Given the description of an element on the screen output the (x, y) to click on. 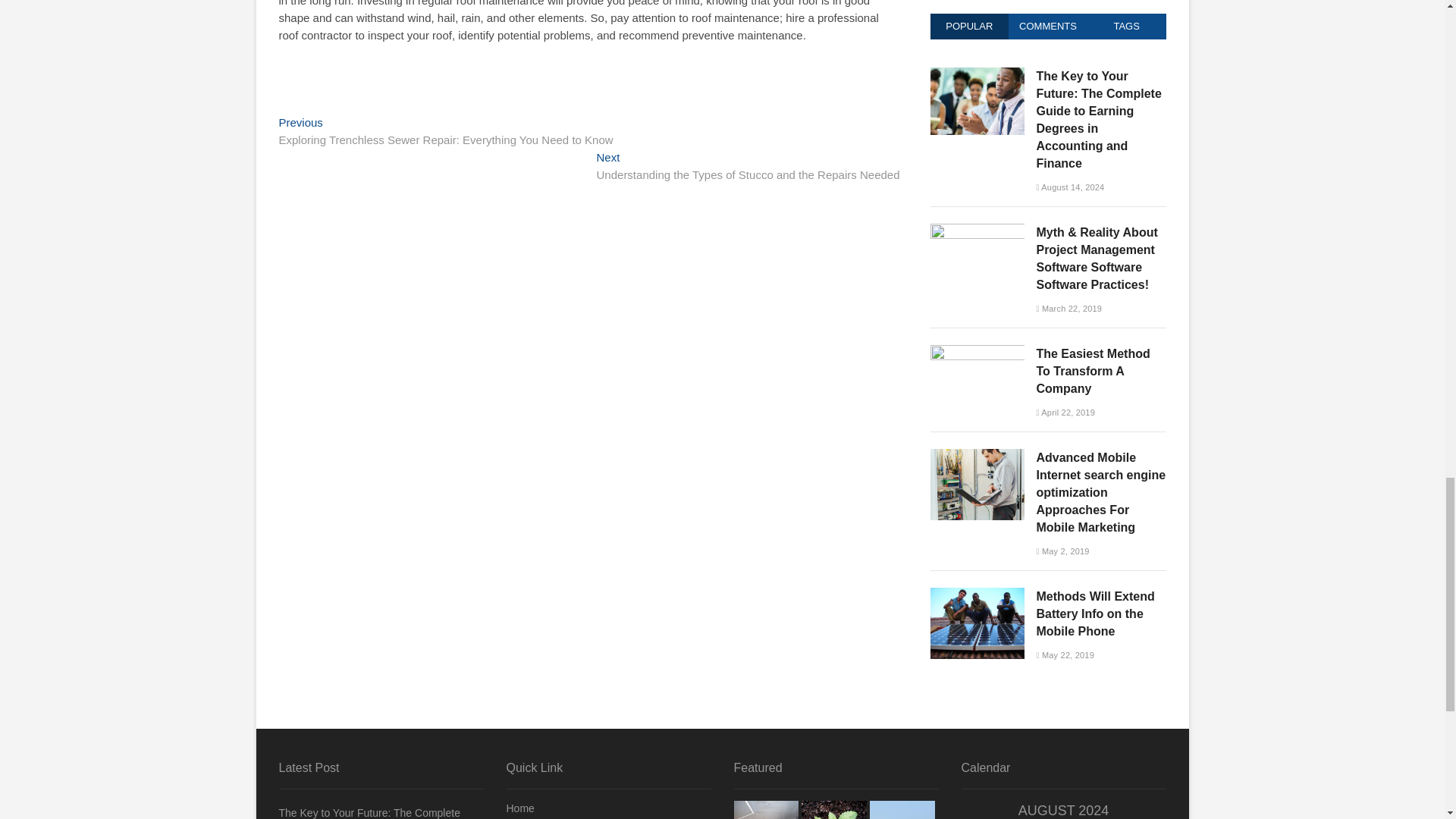
August 14, 2024 (1069, 186)
